Given the description of an element on the screen output the (x, y) to click on. 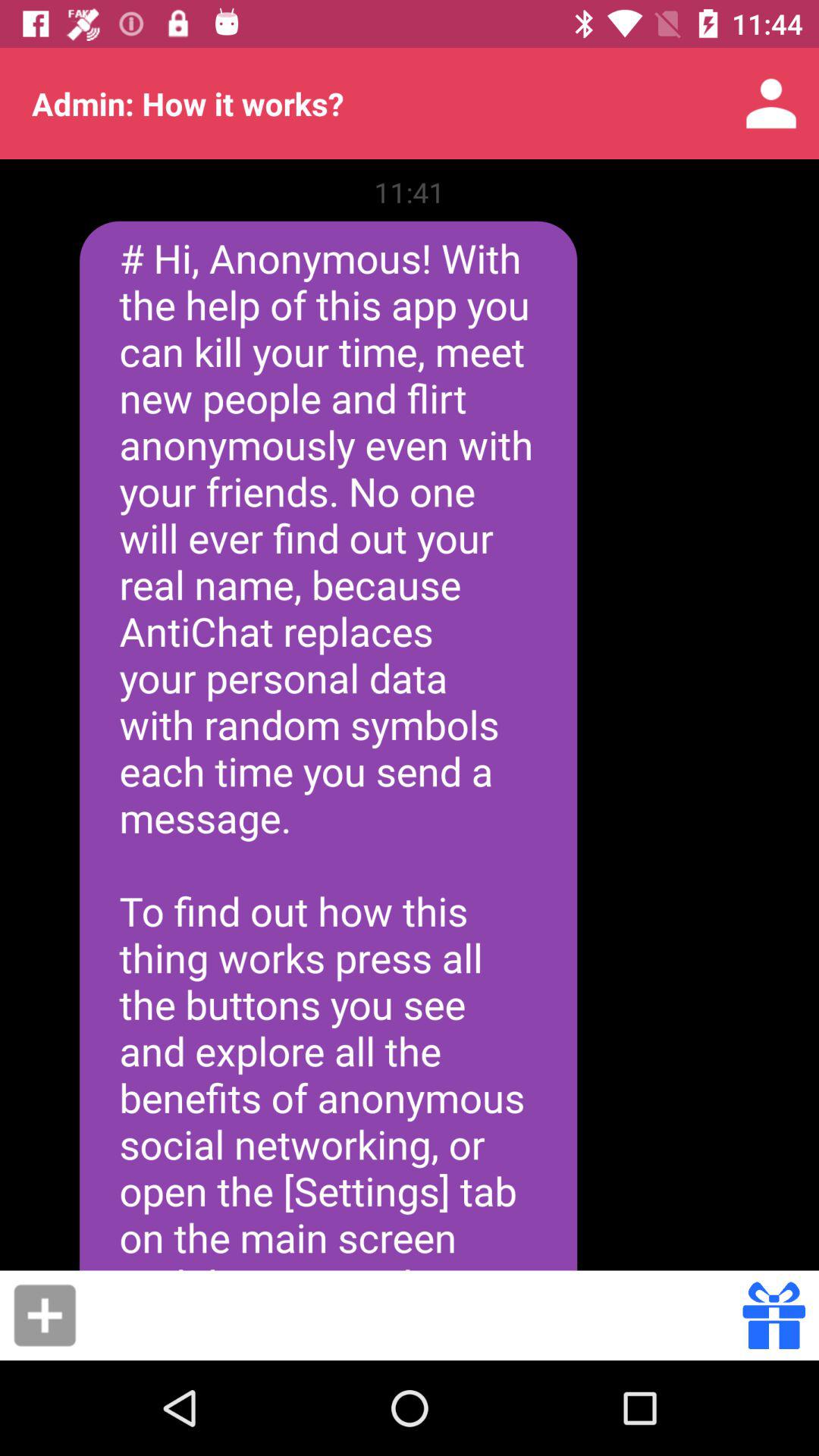
launch hi anonymous with icon (328, 745)
